Given the description of an element on the screen output the (x, y) to click on. 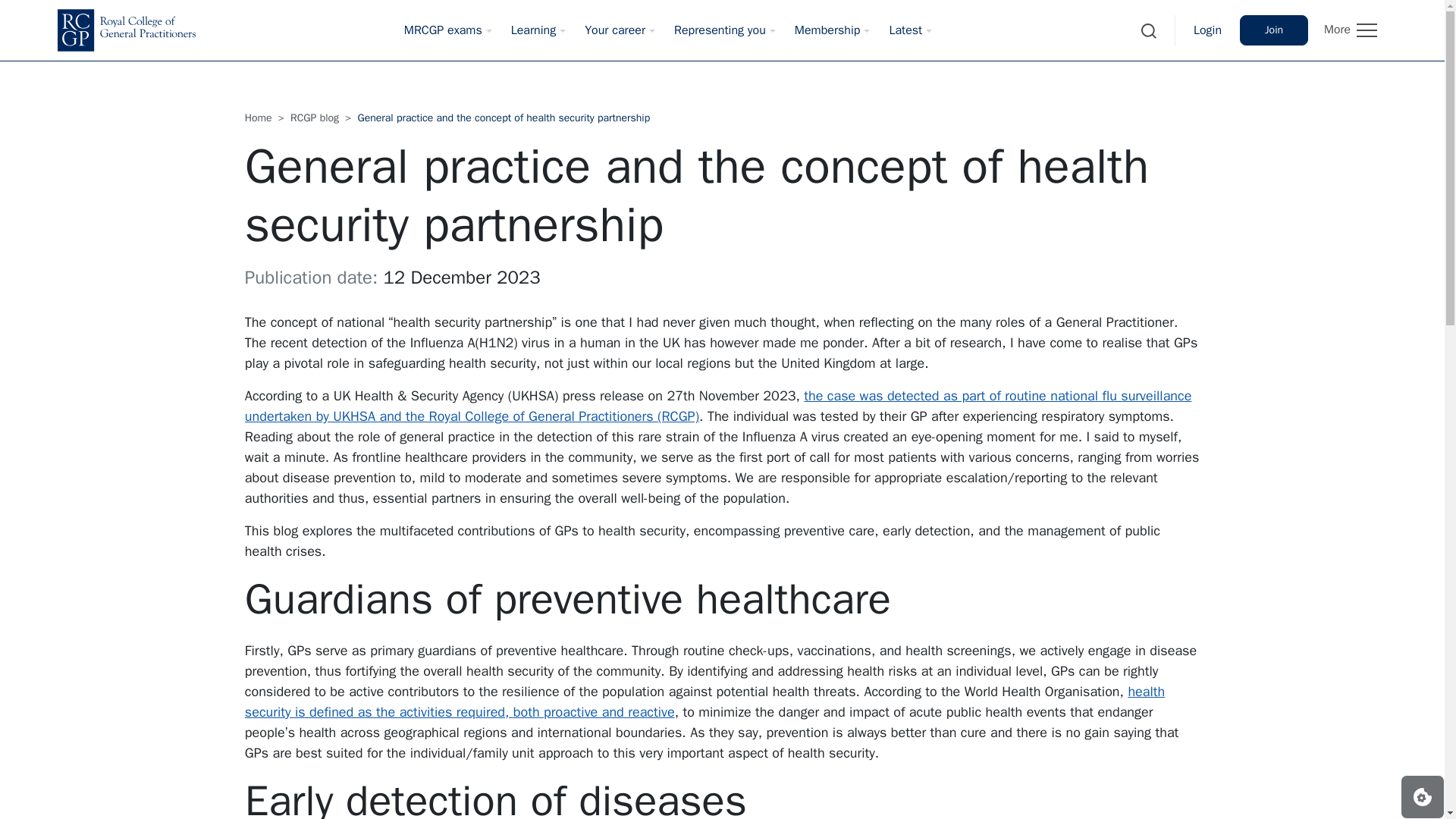
Learning (533, 30)
Latest (904, 30)
Royal College of General Practitioners (126, 30)
Representing you (719, 30)
Learning (533, 30)
MRCGP exams (442, 30)
MRCGP exams (442, 30)
Search site (1149, 30)
What we do (1273, 30)
Royal College of General Practitioners (126, 30)
